Given the description of an element on the screen output the (x, y) to click on. 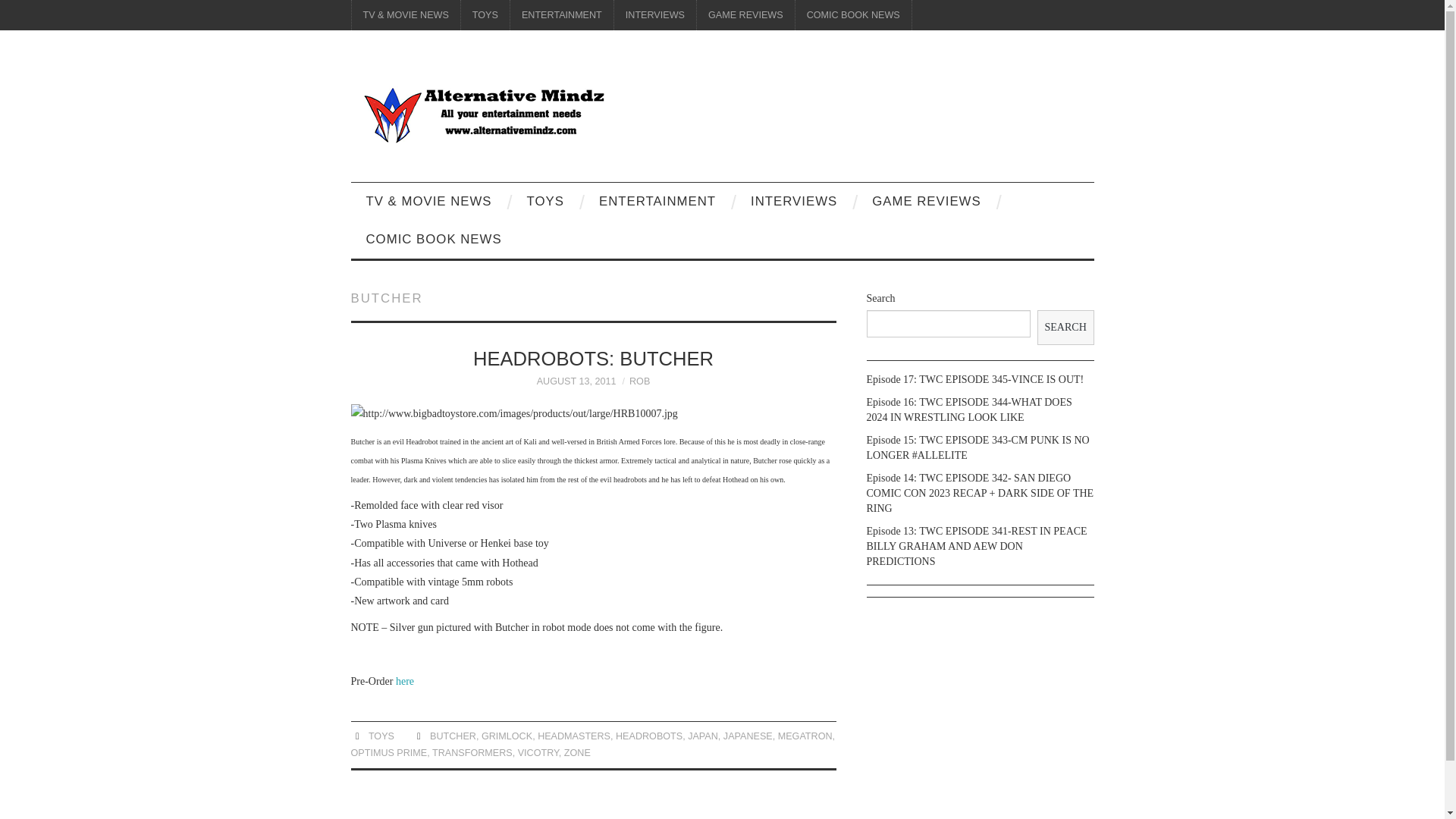
SEARCH (1065, 327)
AUGUST 13, 2011 (576, 380)
ROB (638, 380)
HEADMASTERS (573, 736)
VICOTRY (538, 752)
HEADROBOTS: BUTCHER (593, 358)
Alternative Mindz (482, 112)
ZONE (577, 752)
here (404, 681)
